Given the description of an element on the screen output the (x, y) to click on. 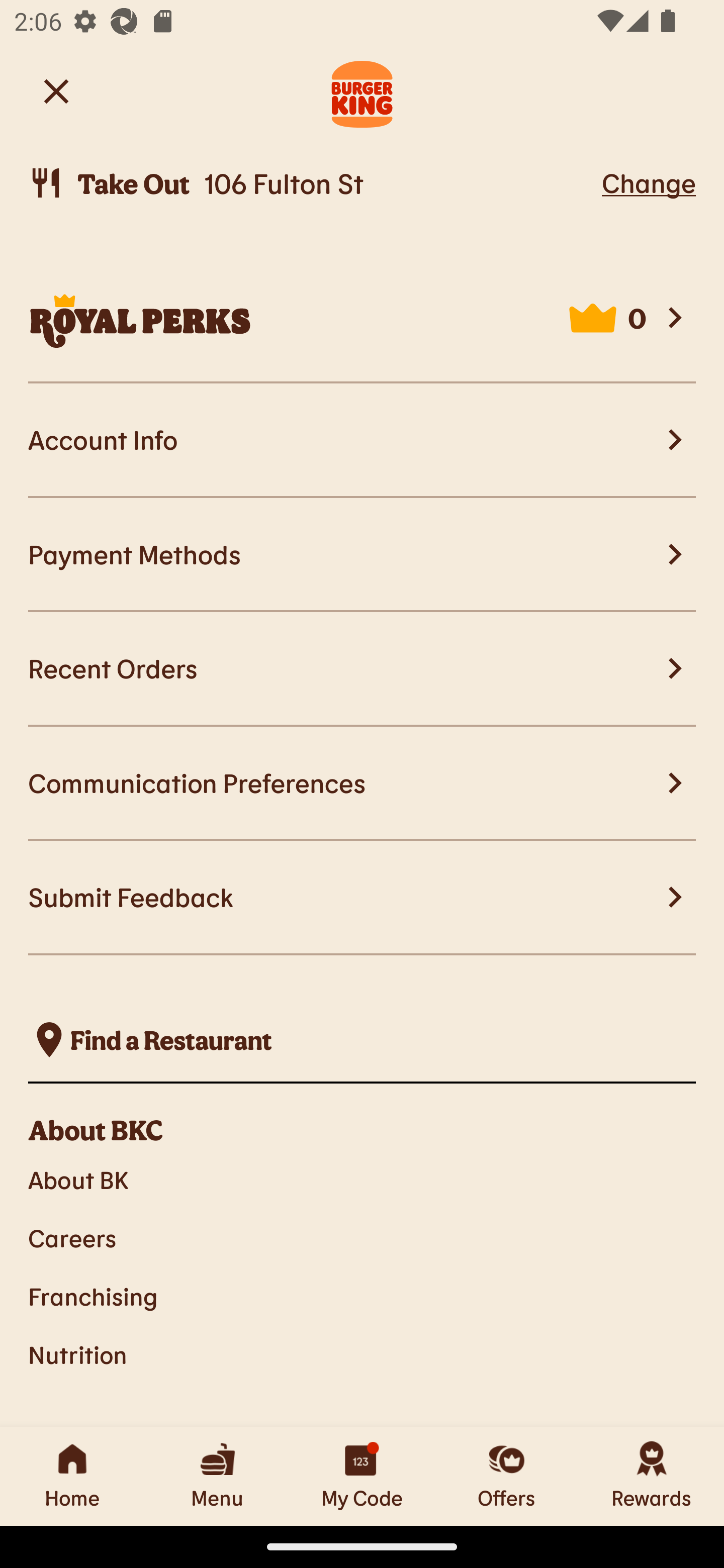
Burger King Logo. Navigate to Home (362, 91)
Back  (56, 90)
Take Out, 106 Fulton St  Take Out 106 Fulton St (311, 183)
Change (648, 182)
Account Info Account Info  (361, 441)
Payment Methods Payment Methods  (361, 554)
Recent Orders Recent Orders  (361, 668)
Submit Feedback Submit Feedback  (361, 897)
, Find a Restaurant  Find a Restaurant (361, 1040)
About BK (361, 1178)
Careers (361, 1237)
Franchising (361, 1295)
Nutrition (361, 1354)
Home (72, 1475)
Menu (216, 1475)
My Code (361, 1475)
Offers (506, 1475)
Rewards (651, 1475)
